Given the description of an element on the screen output the (x, y) to click on. 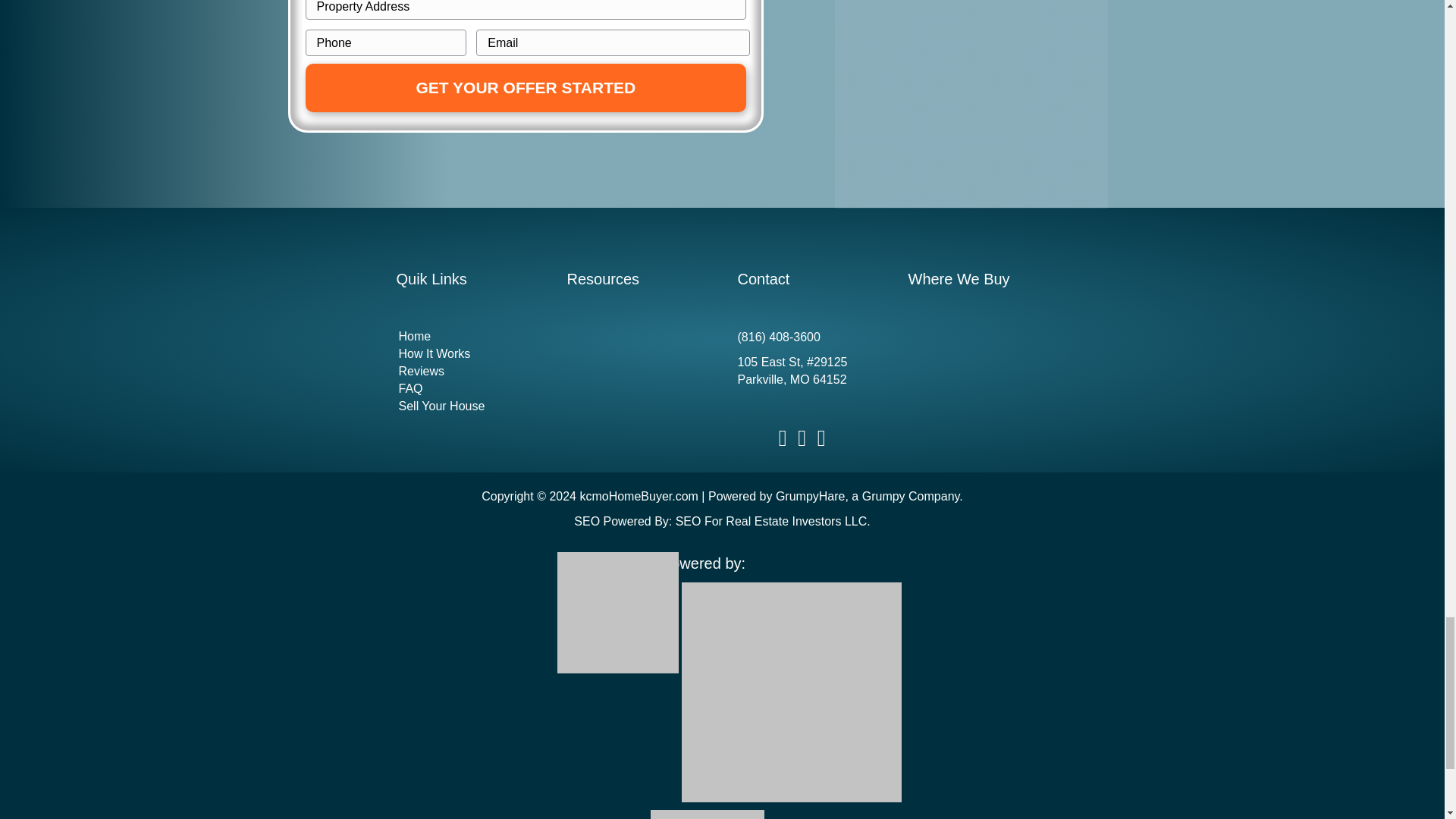
Footer Get Offer (971, 104)
FAQ (465, 388)
Get Your Offer Started (524, 87)
How It Works (465, 353)
Sell Your House (465, 406)
Home (465, 336)
Get Your Offer Started (524, 87)
Reviews (465, 371)
